Given the description of an element on the screen output the (x, y) to click on. 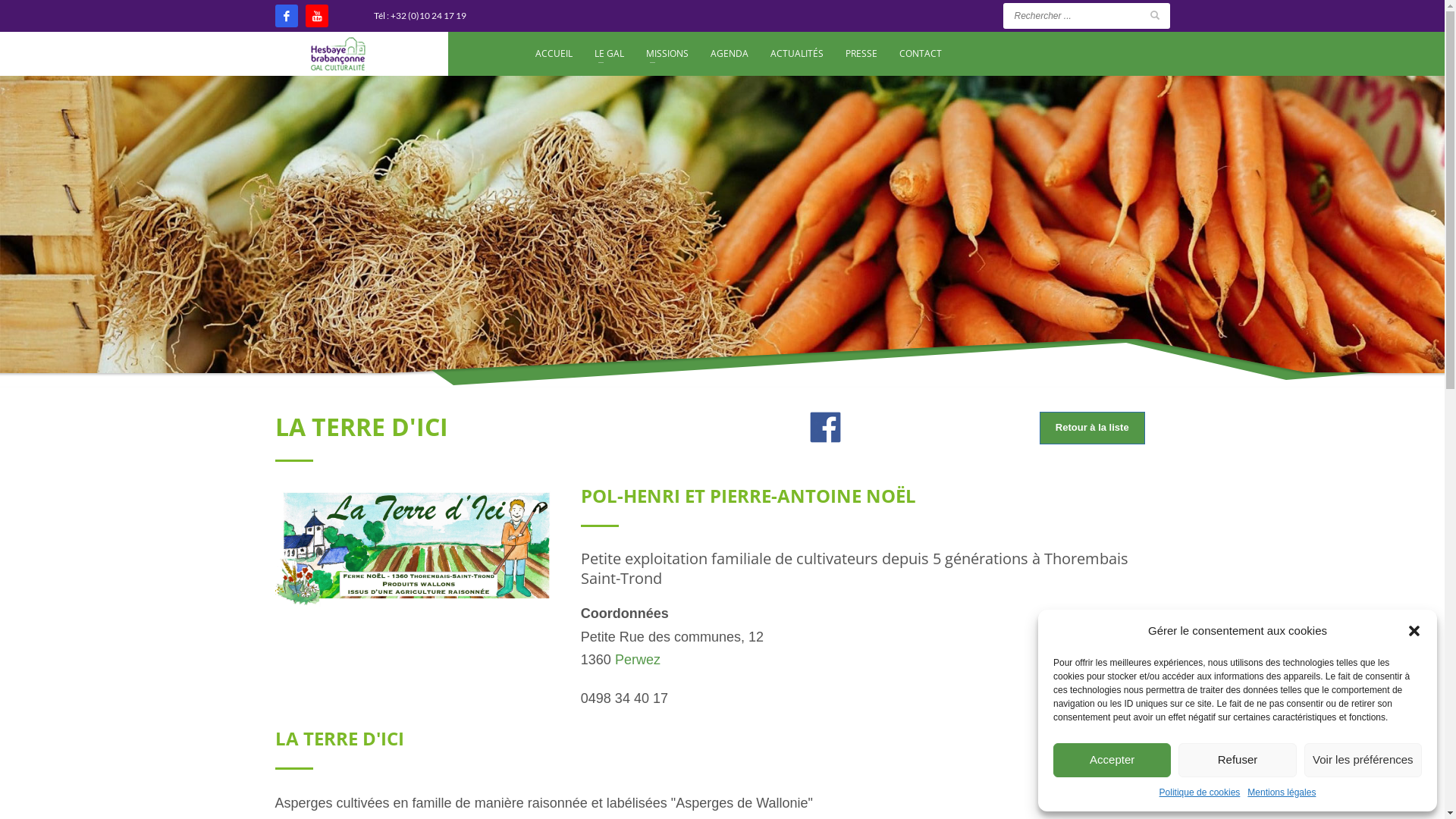
Youyube Element type: hover (315, 15)
PRESSE Element type: text (860, 53)
Perwez Element type: text (637, 659)
Accepter Element type: text (1111, 760)
167436746_138579308267601_3303123950824969346_n Element type: hover (415, 546)
AGENDA Element type: text (728, 53)
Refuser Element type: text (1236, 760)
ACCUEIL Element type: text (553, 53)
go Element type: text (1153, 14)
CONTACT Element type: text (920, 53)
LE GAL Element type: text (609, 53)
Politique de cookies Element type: text (1199, 792)
MISSIONS Element type: text (667, 53)
